Given the description of an element on the screen output the (x, y) to click on. 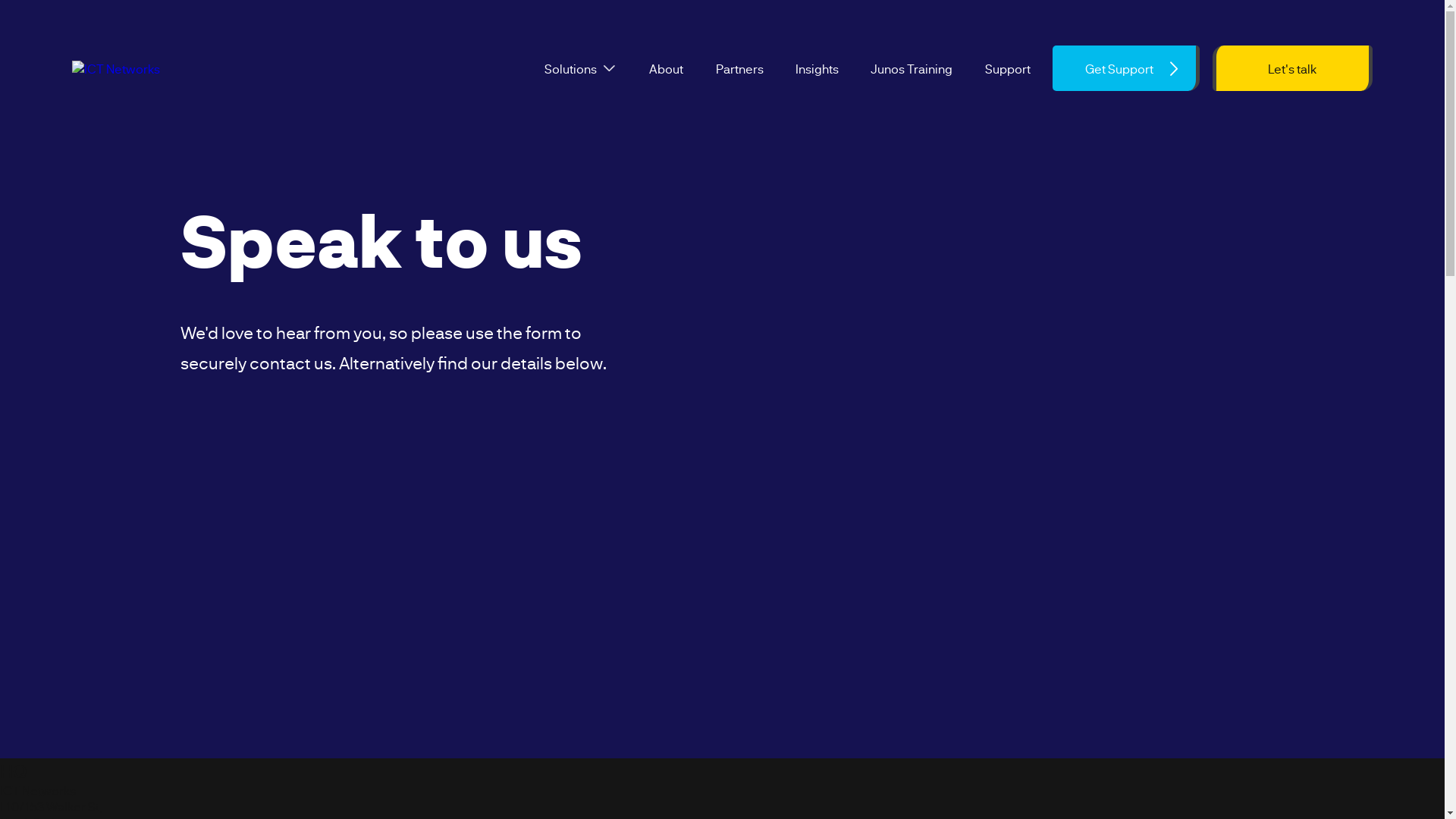
Junos Training Element type: text (912, 68)
Get Support Element type: text (1125, 67)
Solutions Element type: text (570, 68)
About Element type: text (666, 68)
Insights Element type: text (816, 68)
Partners Element type: text (739, 68)
Let's talk Element type: text (1292, 67)
Support Element type: text (1007, 68)
ICT Networks Home Element type: hover (170, 68)
